Given the description of an element on the screen output the (x, y) to click on. 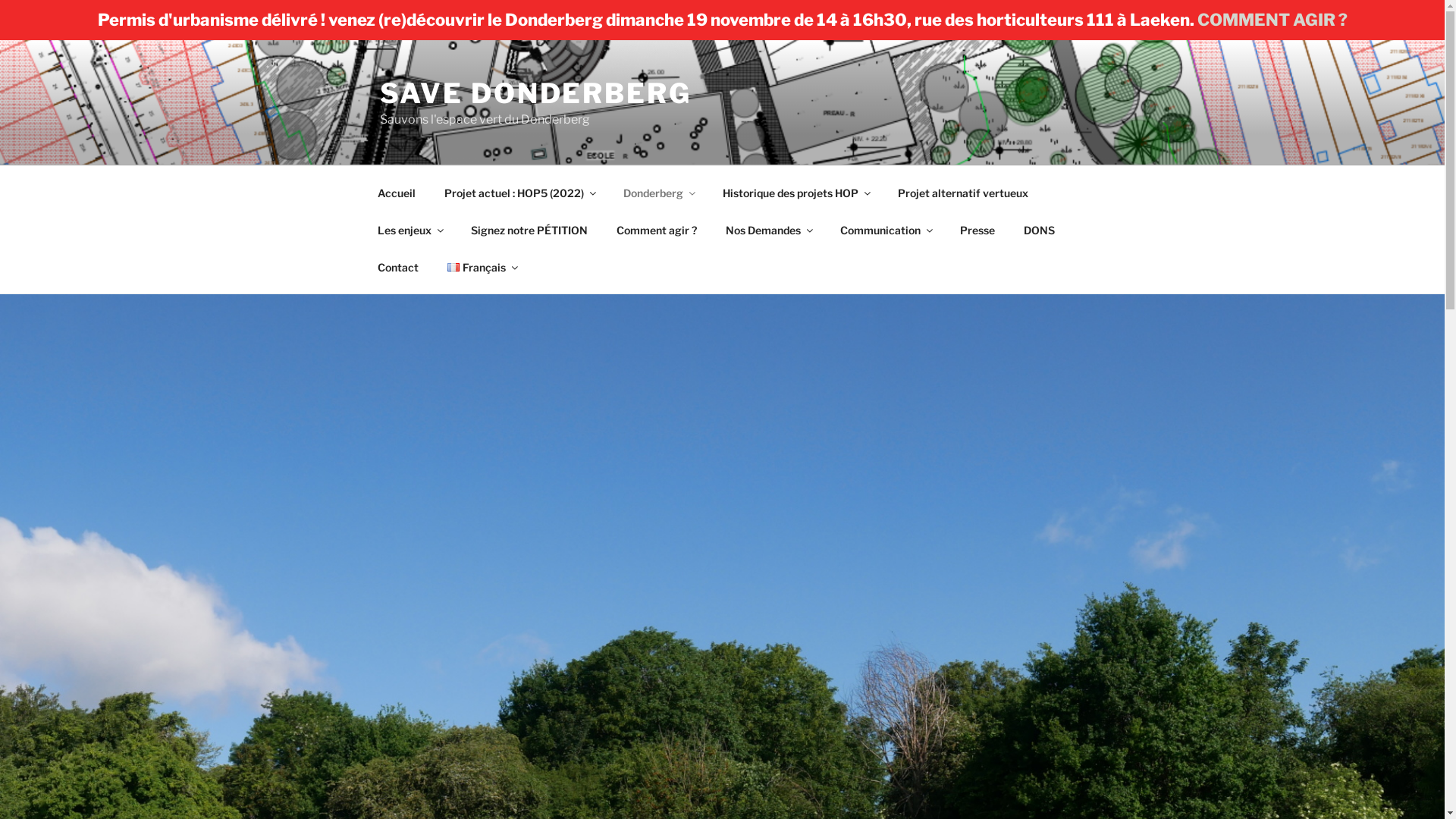
Historique des projets HOP Element type: text (795, 192)
Donderberg Element type: text (657, 192)
Presse Element type: text (976, 228)
Comment agir ? Element type: text (656, 228)
Nos Demandes Element type: text (768, 228)
Les enjeux Element type: text (409, 228)
Projet actuel : HOP5 (2022) Element type: text (518, 192)
COMMENT AGIR ? Element type: text (1271, 19)
Accueil Element type: text (396, 192)
SAVE DONDERBERG Element type: text (534, 92)
DONS Element type: text (1038, 228)
Communication Element type: text (885, 228)
Projet alternatif vertueux Element type: text (962, 192)
Contact Element type: text (397, 266)
